Given the description of an element on the screen output the (x, y) to click on. 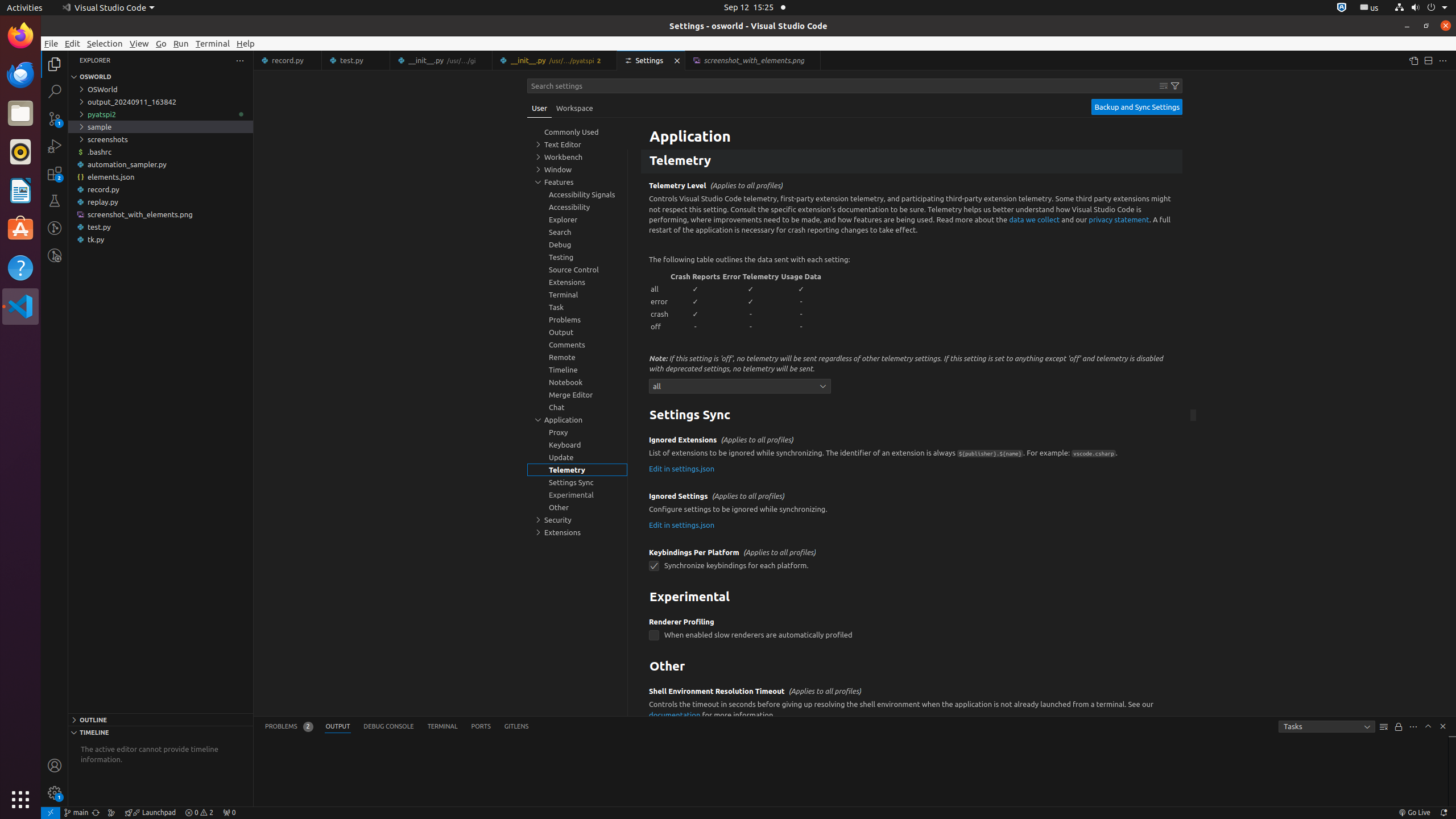
Settings Element type: page-tab (651, 60)
Accessibility, group Element type: tree-item (577, 206)
Tasks Element type: menu-item (1326, 726)
Edit in settings.json: settingsSync.ignoredSettings Element type: push-button (681, 524)
Other Element type: tree-item (911, 667)
